Given the description of an element on the screen output the (x, y) to click on. 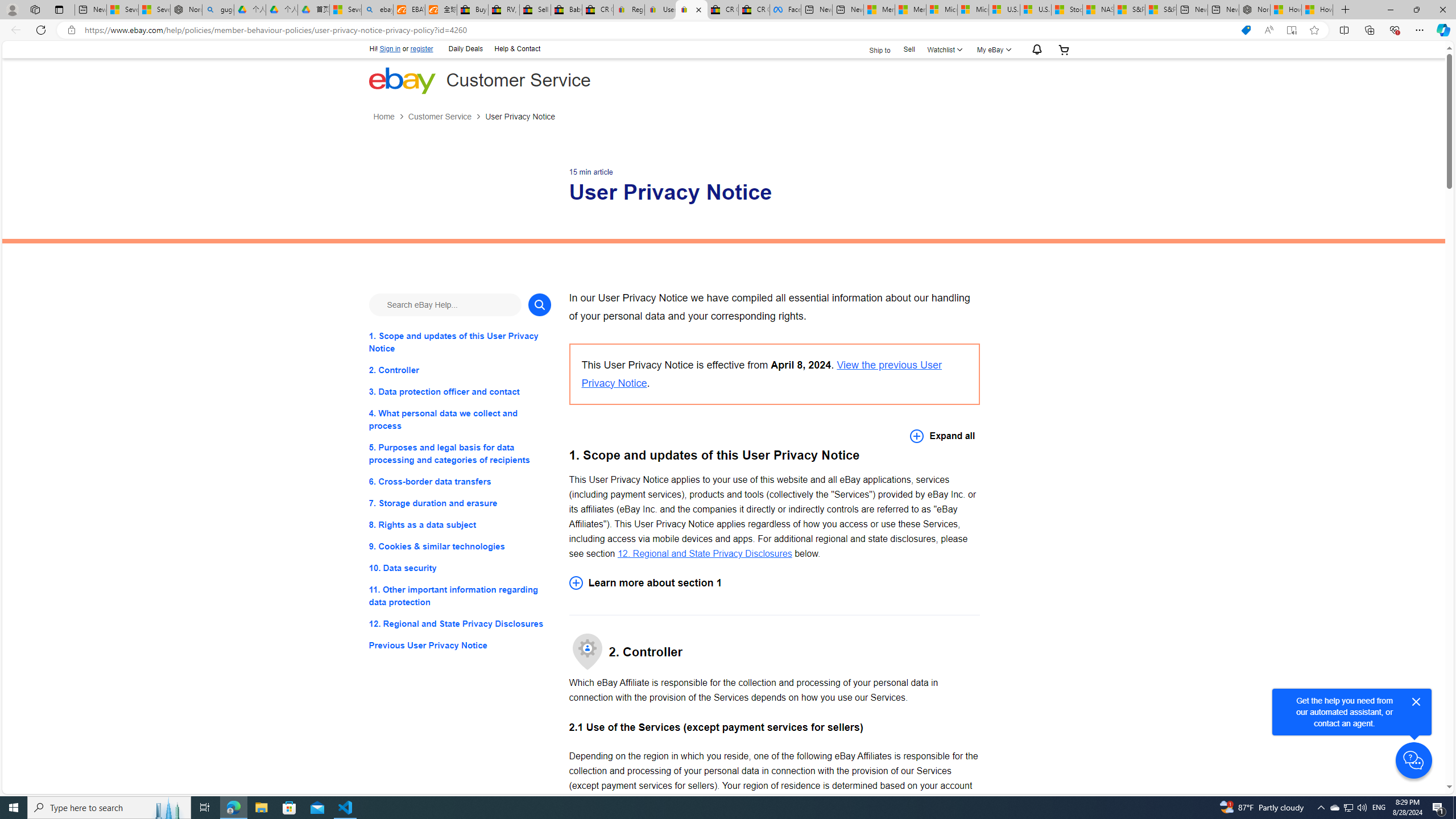
Expand Cart (1064, 49)
7. Storage duration and erasure (459, 503)
S&P 500, Nasdaq end lower, weighed by Nvidia dip | Watch (1160, 9)
Facebook (785, 9)
8. Rights as a data subject (459, 524)
Register: Create a personal eBay account (628, 9)
WatchlistExpand Watch List (943, 49)
Daily Deals (465, 48)
11. Other important information regarding data protection (459, 596)
Sell (909, 49)
